Given the description of an element on the screen output the (x, y) to click on. 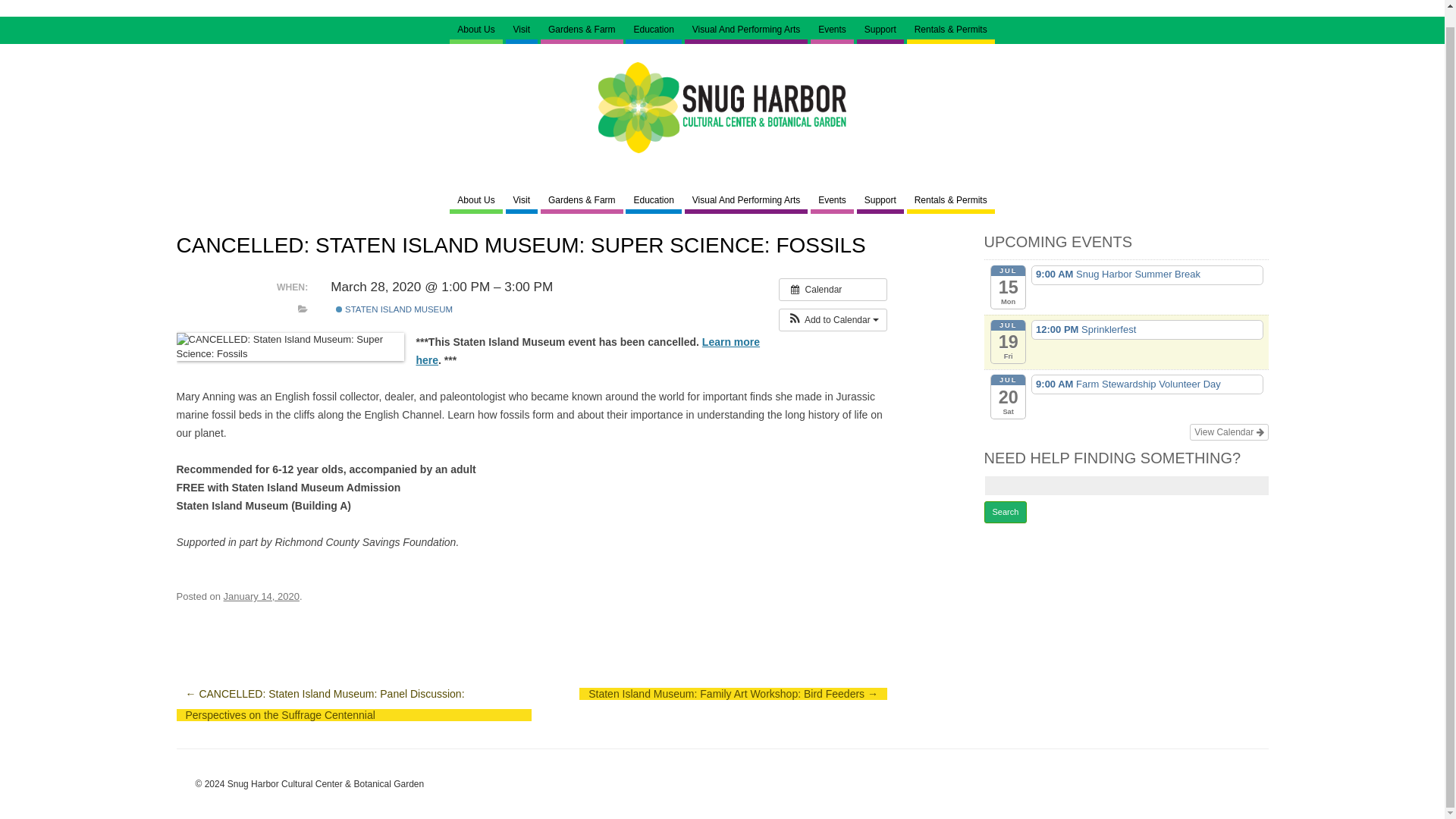
Education (653, 30)
Discovery Pass At Snug Harbor (592, 65)
Staten Island Museum (339, 309)
Search (1005, 512)
View all events (832, 289)
Visual And Performing Arts (746, 30)
2:45 PM (261, 595)
Categories (302, 308)
Visit (521, 30)
Spring Plant Sale (627, 58)
Class Trips (712, 58)
Events produced by the Staten Island Museum in Building A (393, 309)
History (536, 58)
